Given the description of an element on the screen output the (x, y) to click on. 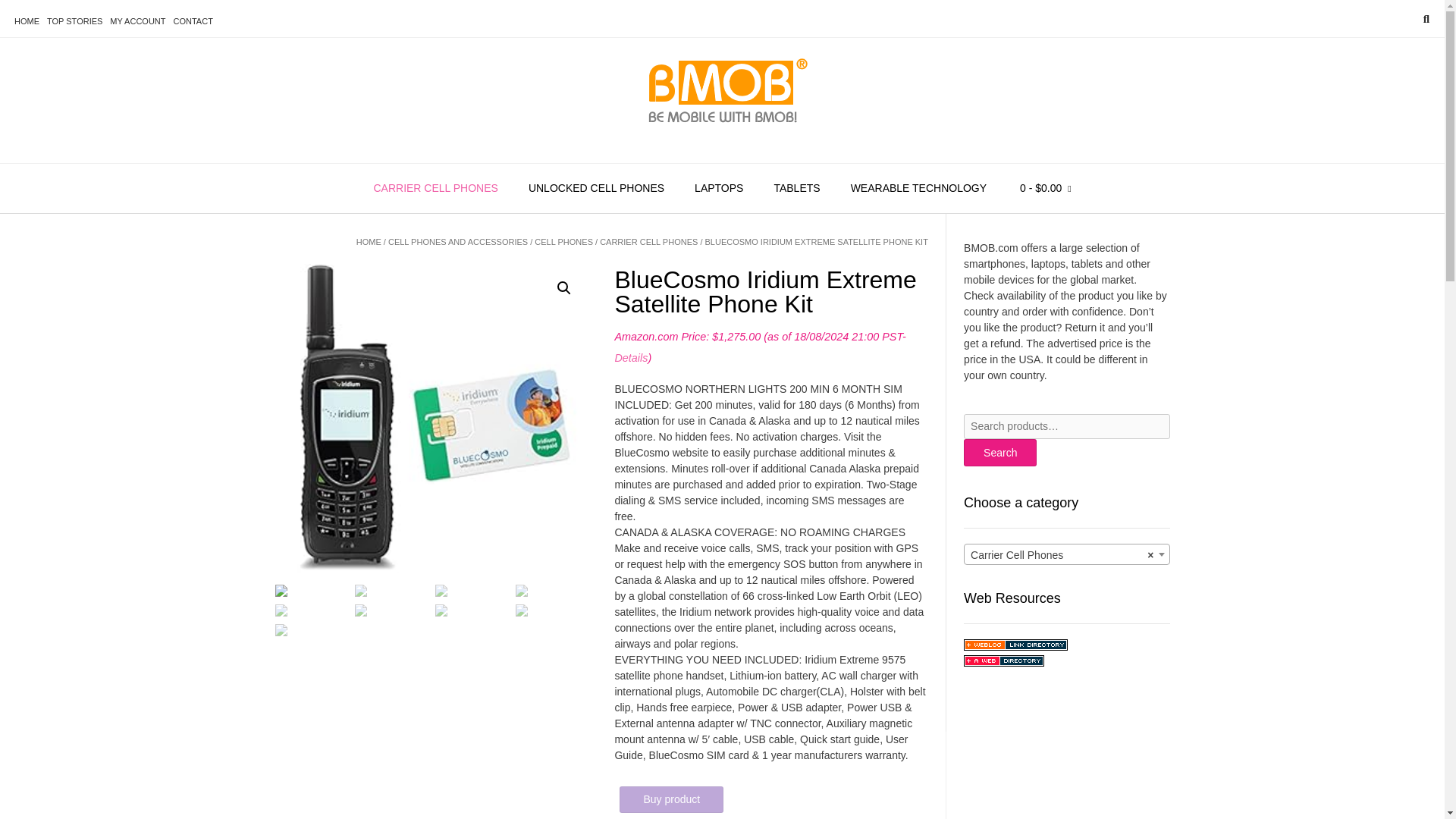
WEARABLE TECHNOLOGY (918, 188)
UNLOCKED CELL PHONES (596, 188)
View your shopping cart (1045, 188)
LAPTOPS (718, 188)
BlueCosmo-Iridium-Extreme-Satellite-Phone-Kit (431, 420)
CARRIER CELL PHONES (648, 241)
Buy product (671, 799)
CELL PHONES AND ACCESSORIES (457, 241)
MY ACCOUNT (137, 21)
TOP STORIES (73, 21)
